Given the description of an element on the screen output the (x, y) to click on. 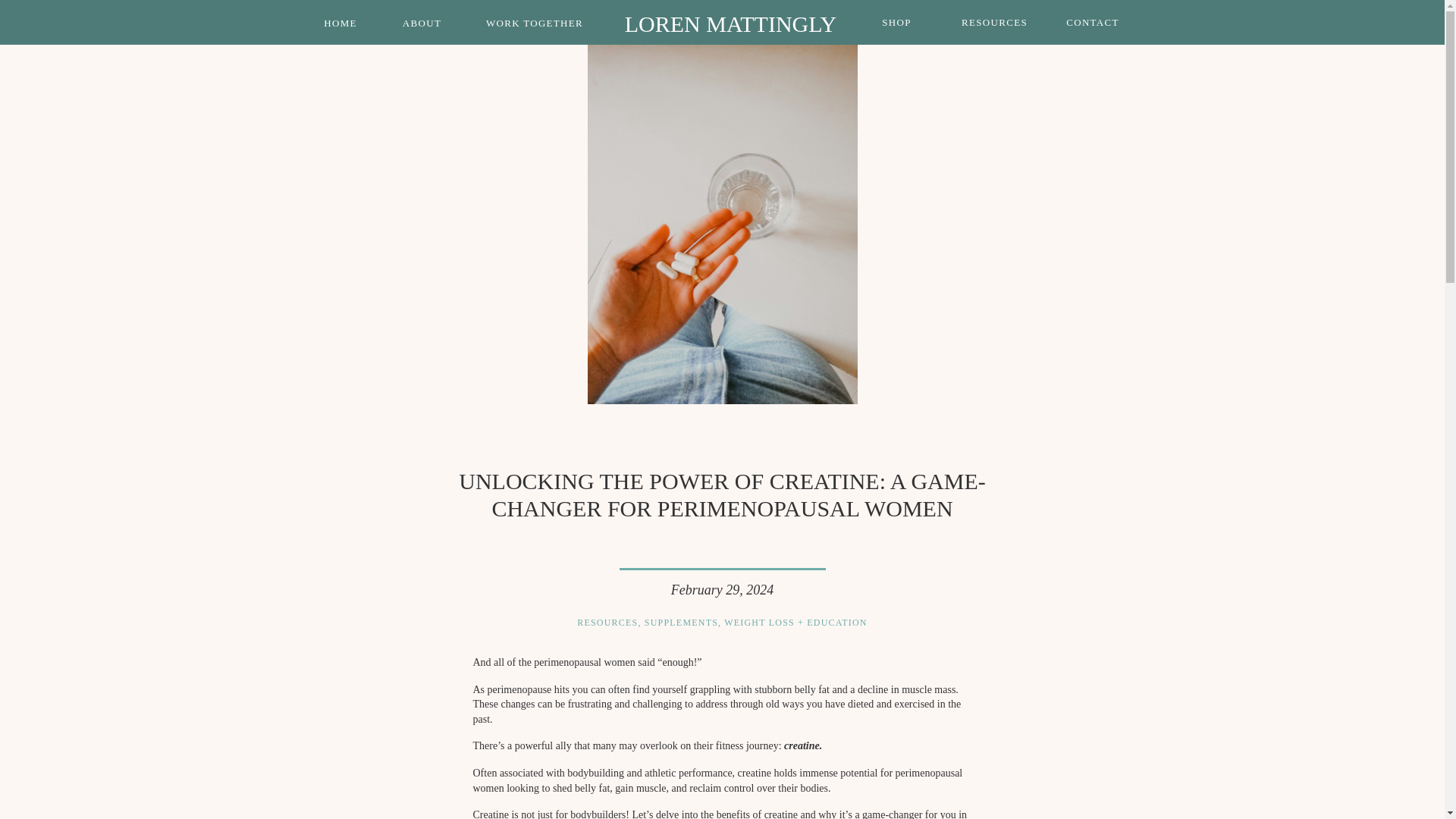
CONTACT (1093, 22)
ABOUT (421, 22)
SHOP (897, 22)
SUPPLEMENTS (681, 622)
RESOURCES (995, 22)
RESOURCES (606, 622)
WORK TOGETHER (534, 22)
HOME (341, 22)
